Given the description of an element on the screen output the (x, y) to click on. 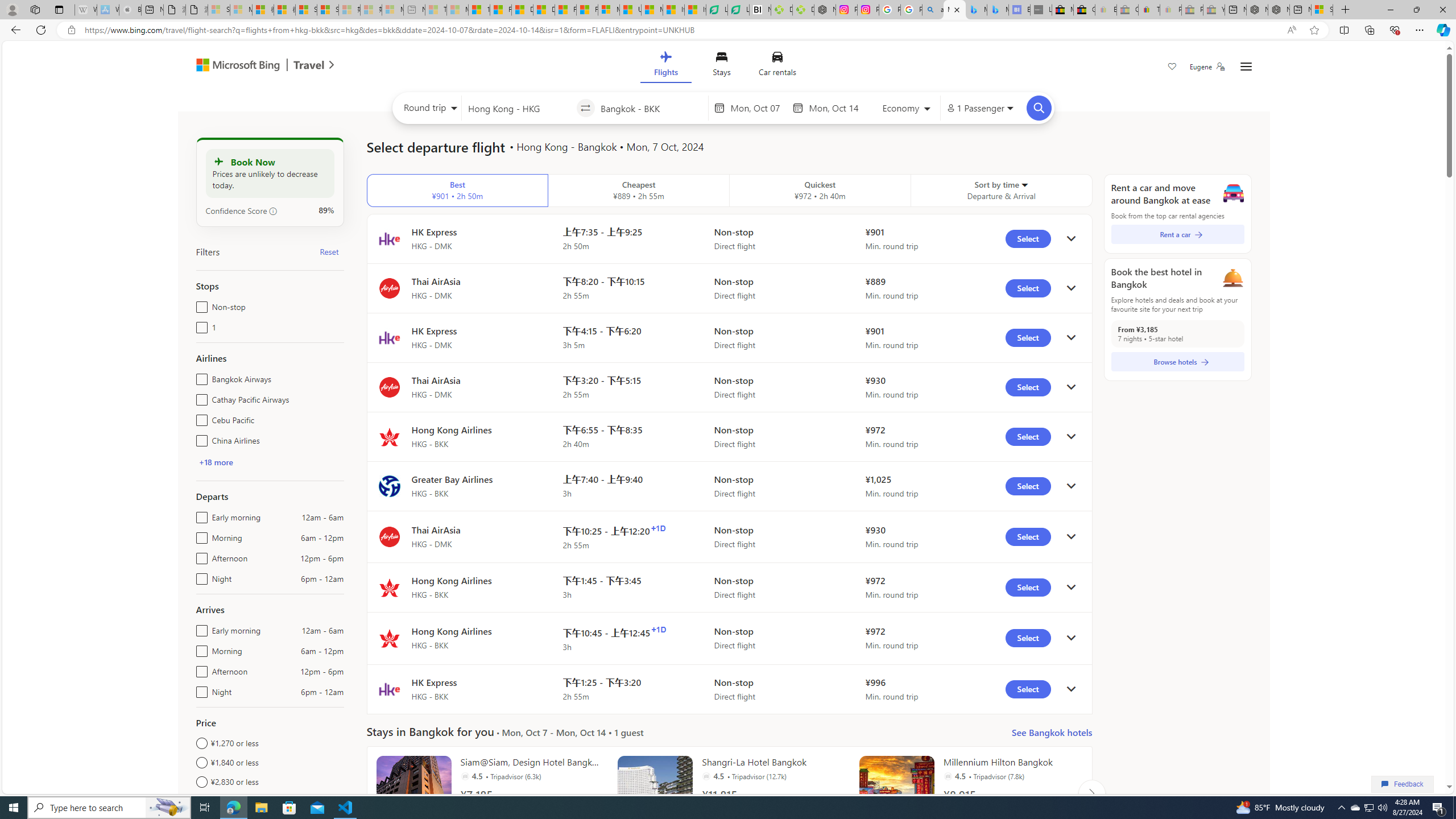
US Heat Deaths Soared To Record High Last Year (630, 9)
Marine life - MSN - Sleeping (457, 9)
Payments Terms of Use | eBay.com - Sleeping (1170, 9)
Sorter (1023, 184)
Afternoon12pm - 6pm (199, 669)
